Given the description of an element on the screen output the (x, y) to click on. 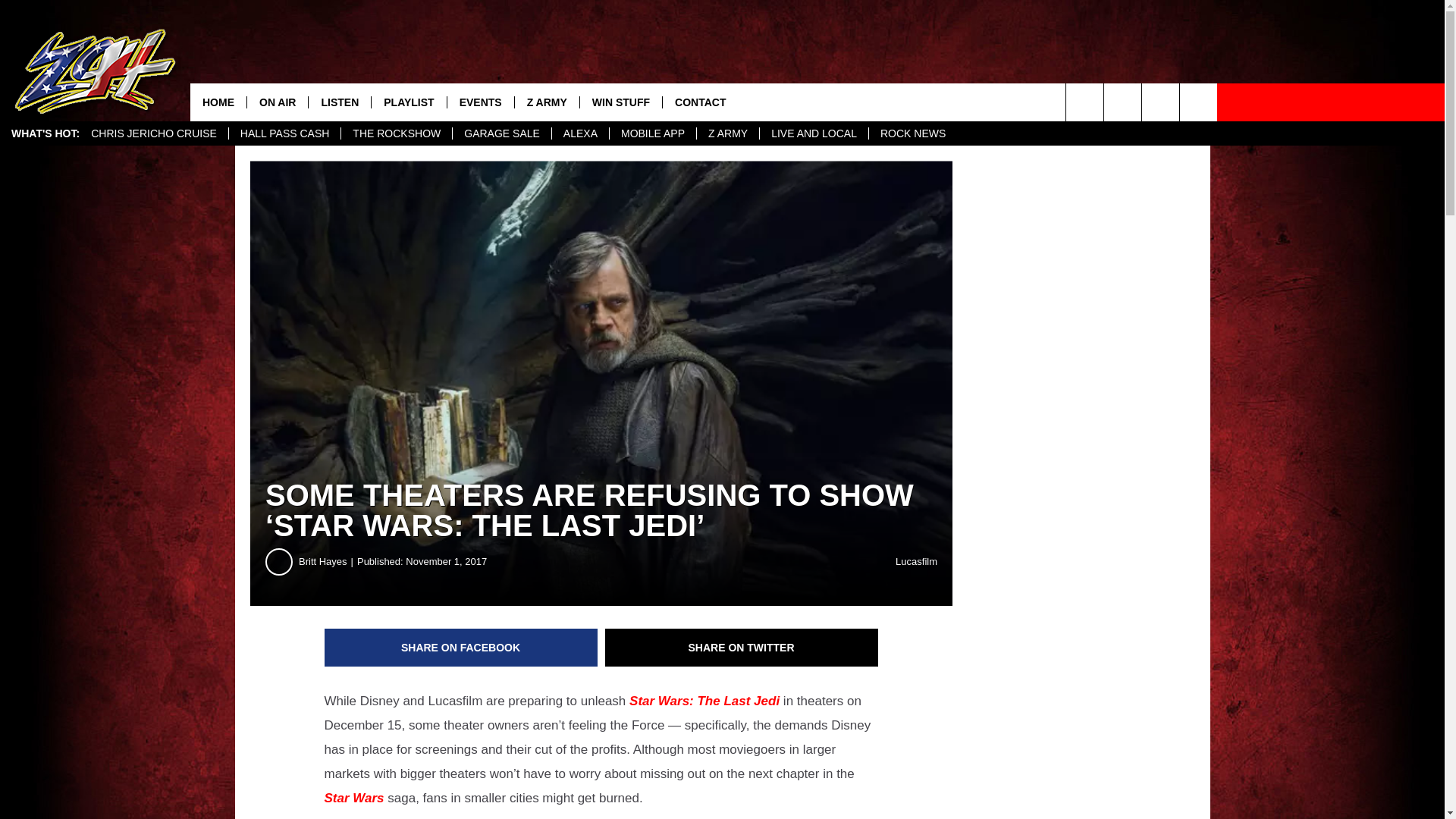
CHRIS JERICHO CRUISE (154, 133)
Share on Twitter (741, 647)
WIN STUFF (620, 102)
ALEXA (579, 133)
MOBILE APP (651, 133)
ROCK NEWS (911, 133)
PLAYLIST (408, 102)
Z ARMY (546, 102)
EVENTS (479, 102)
HOME (218, 102)
